Given the description of an element on the screen output the (x, y) to click on. 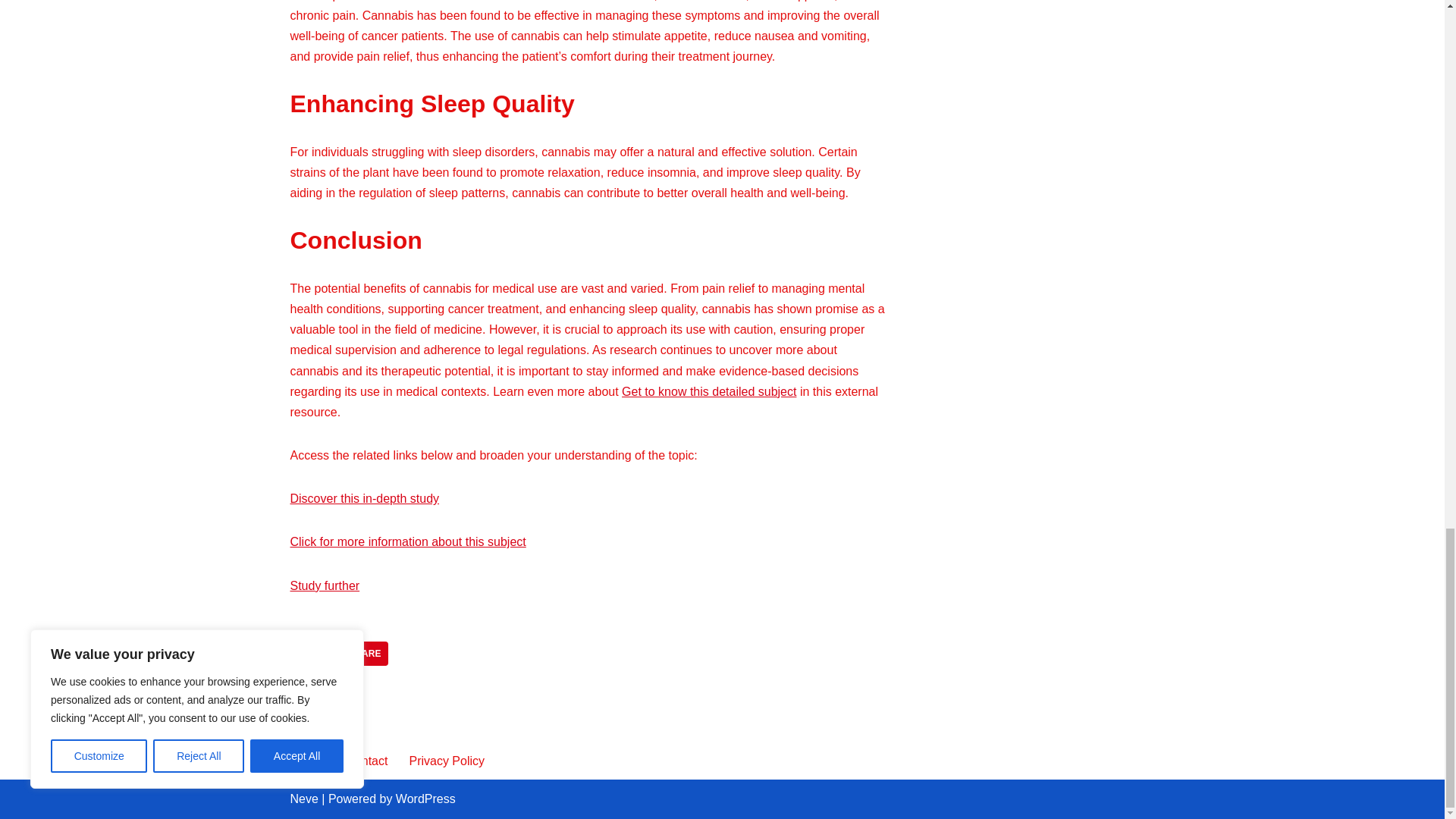
Get to know this detailed subject (708, 391)
Study further (324, 585)
Discover this in-depth study (364, 498)
Click for more information about this subject (407, 541)
